Given the description of an element on the screen output the (x, y) to click on. 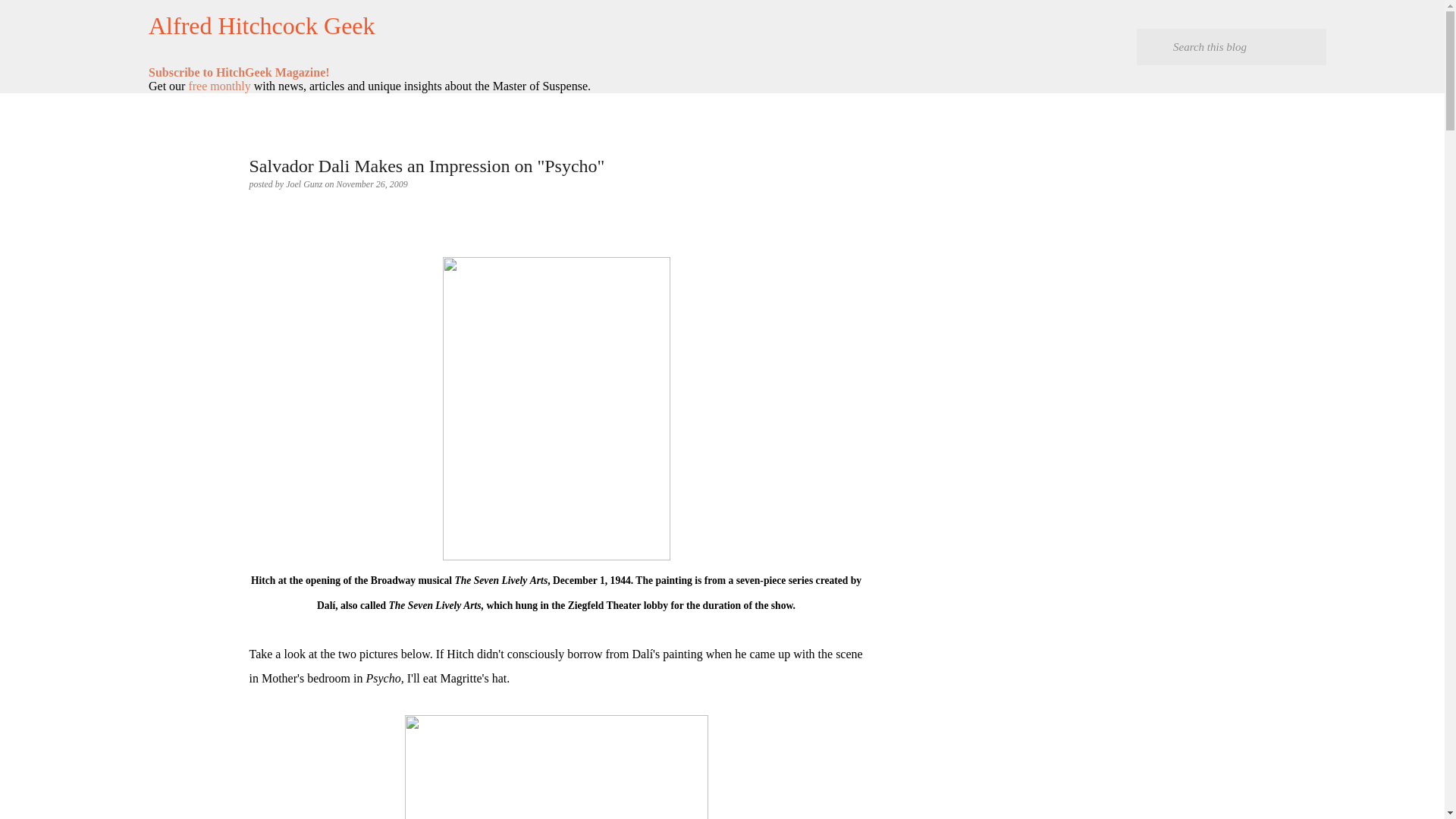
Alfred Hitchcock Geek (261, 25)
free monthly (218, 85)
Subscribe to HitchGeek Magazine! (239, 72)
Joel Gunz (304, 184)
author profile (304, 184)
November 26, 2009 (371, 184)
permanent link (371, 184)
